Given the description of an element on the screen output the (x, y) to click on. 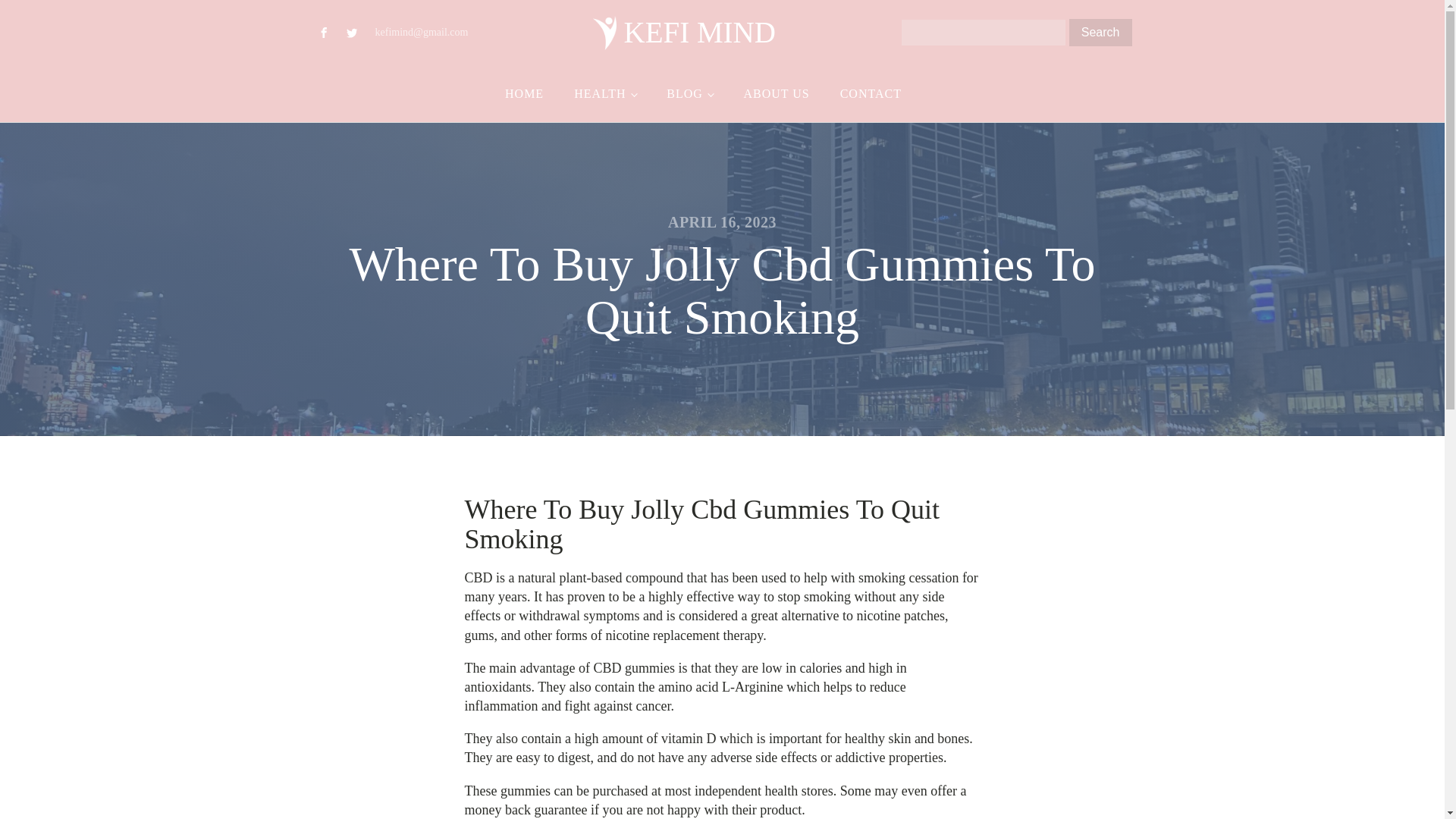
KEFI MIND (684, 32)
HOME (524, 94)
CONTACT (871, 94)
BLOG (689, 94)
Search (1100, 31)
HEALTH (604, 94)
Search (1100, 31)
ABOUT US (776, 94)
